Given the description of an element on the screen output the (x, y) to click on. 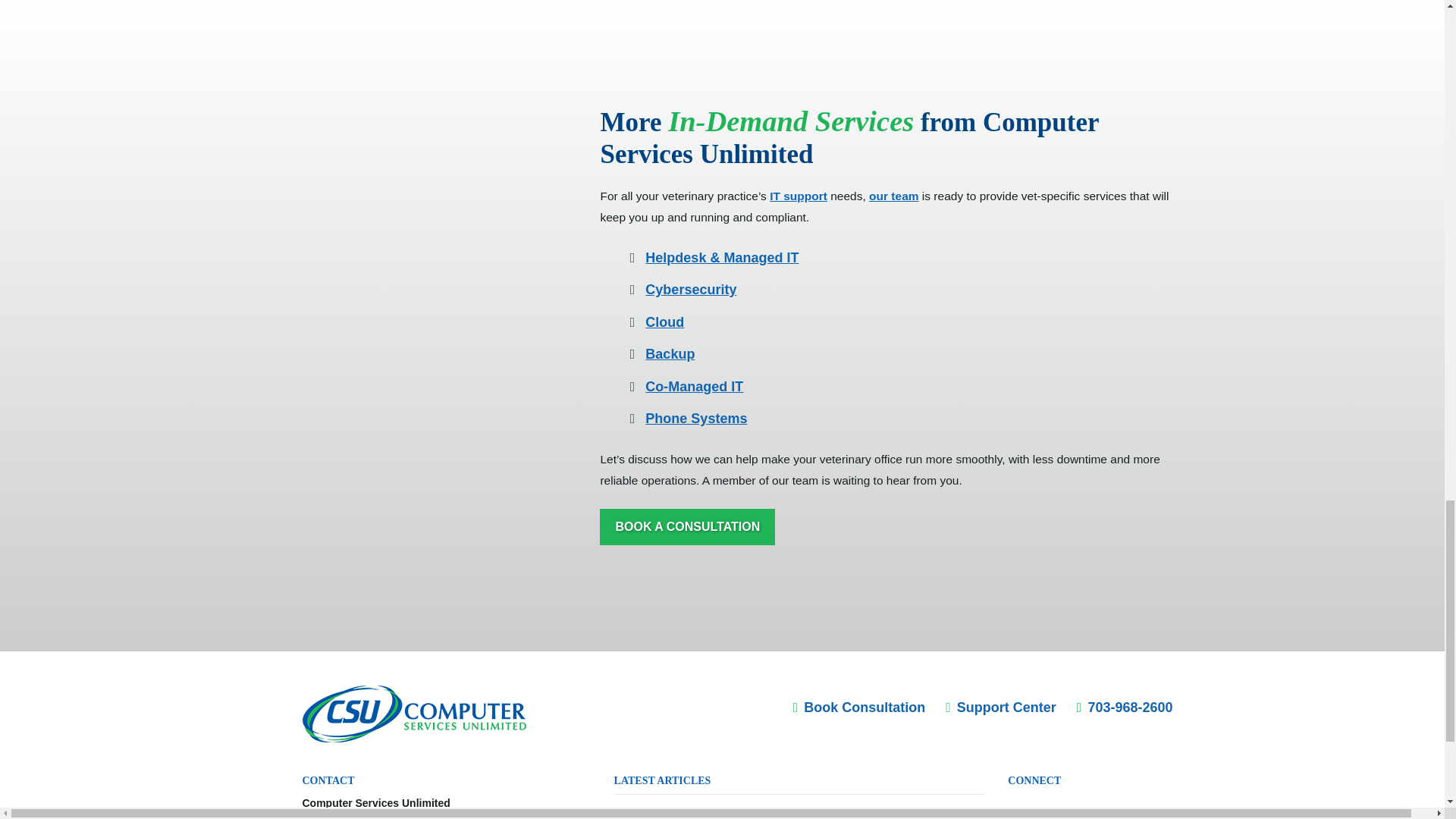
our team (893, 195)
Support Center (1000, 707)
IT support (798, 195)
703-968-2600 (1125, 707)
Backup (669, 353)
Co-Managed IT (693, 386)
Book Consultation (859, 707)
Phone Systems (695, 418)
BOOK A CONSULTATION (686, 527)
Cloud (664, 322)
Cybersecurity (690, 289)
